Given the description of an element on the screen output the (x, y) to click on. 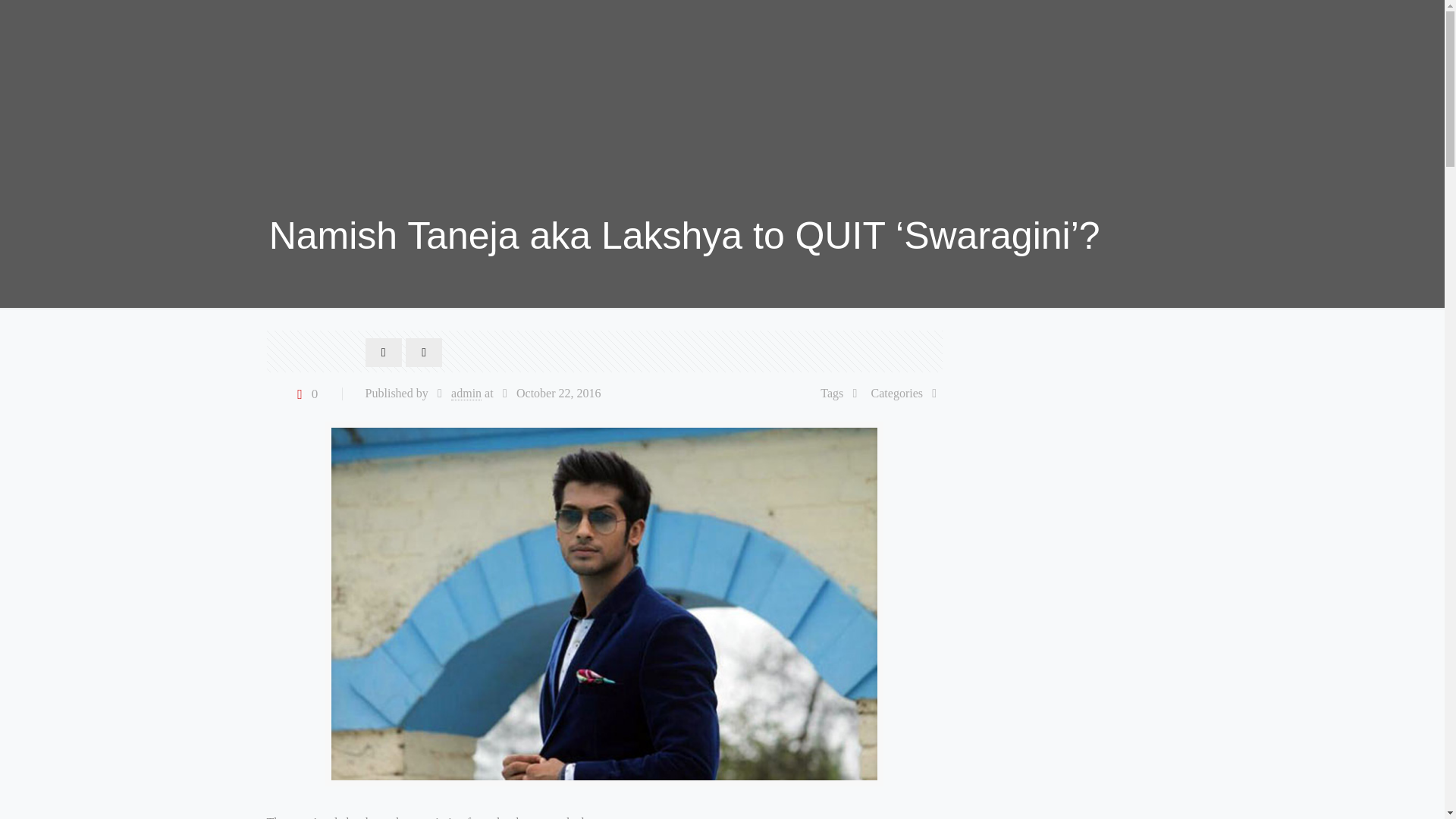
0 (303, 393)
admin (466, 393)
